Given the description of an element on the screen output the (x, y) to click on. 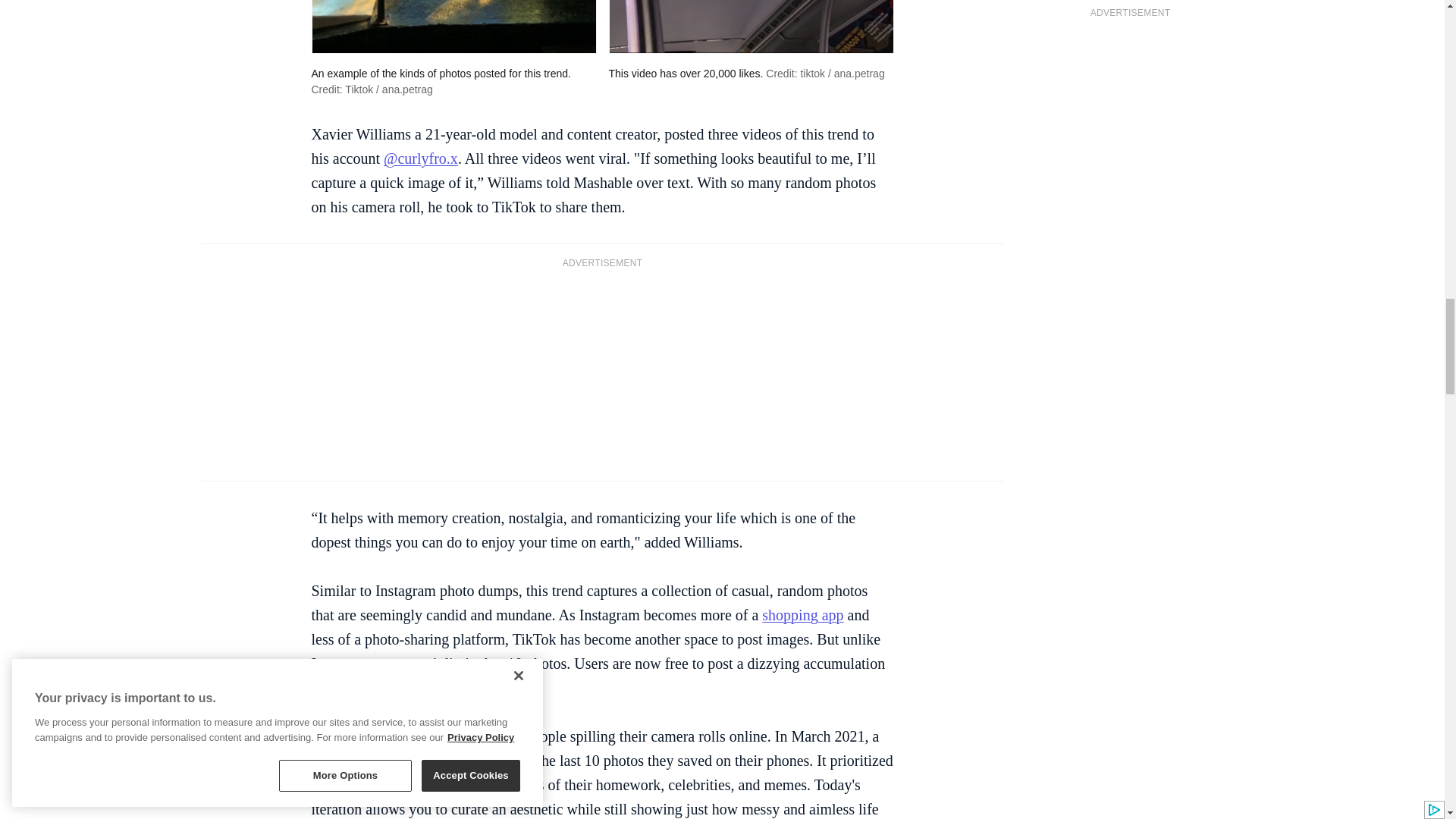
3rd party ad content (601, 373)
